Given the description of an element on the screen output the (x, y) to click on. 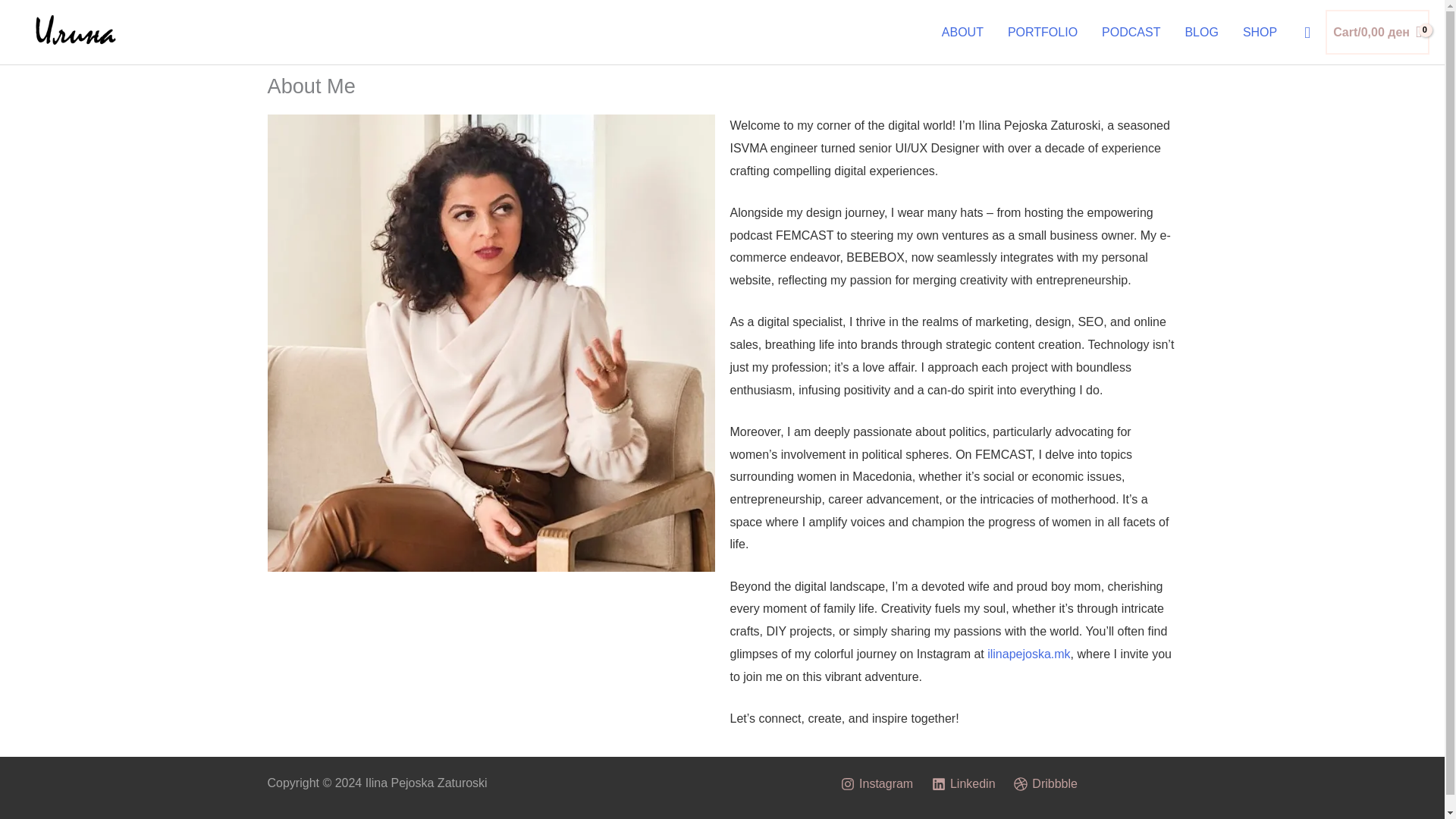
PODCAST (1130, 31)
SHOP (1259, 31)
ilinapejoska.mk (1028, 653)
Linkedin (963, 784)
Dribbble (1045, 784)
BLOG (1201, 31)
Instagram (876, 784)
PORTFOLIO (1042, 31)
ABOUT (962, 31)
